Given the description of an element on the screen output the (x, y) to click on. 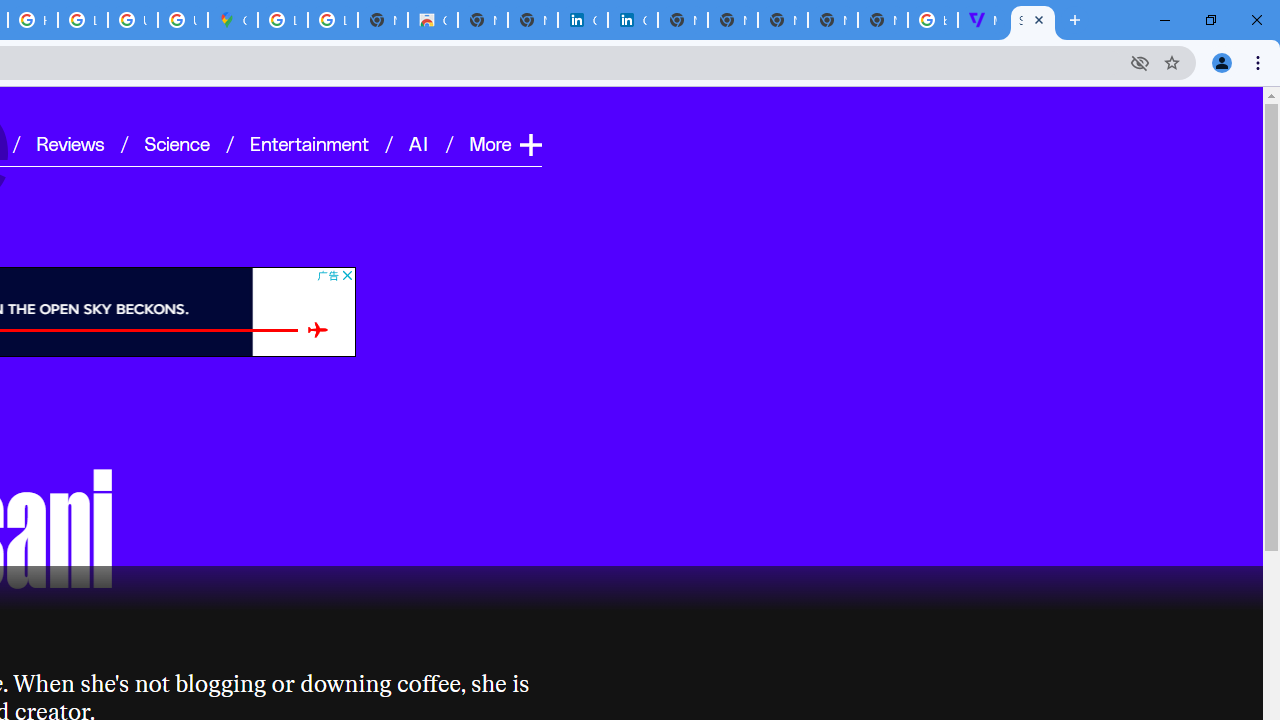
Cookie Policy | LinkedIn (582, 20)
More Expand (504, 142)
AutomationID: cbb (346, 274)
Reviews (69, 142)
Cookie Policy | LinkedIn (632, 20)
Google Maps (232, 20)
